Given the description of an element on the screen output the (x, y) to click on. 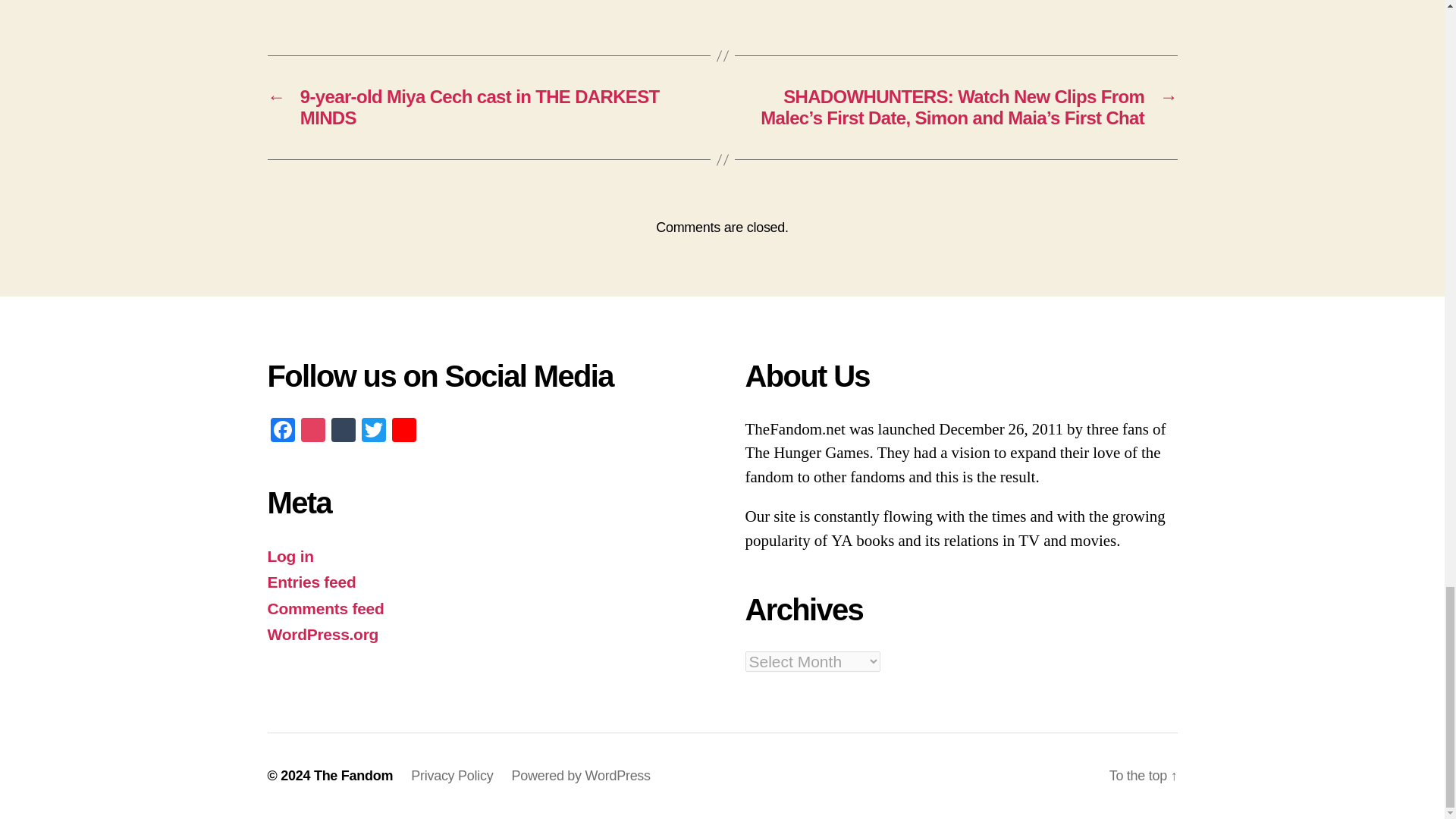
Instagram (312, 431)
Facebook (281, 431)
Tumblr (342, 431)
Twitter (373, 431)
YouTube Channel (403, 431)
